Given the description of an element on the screen output the (x, y) to click on. 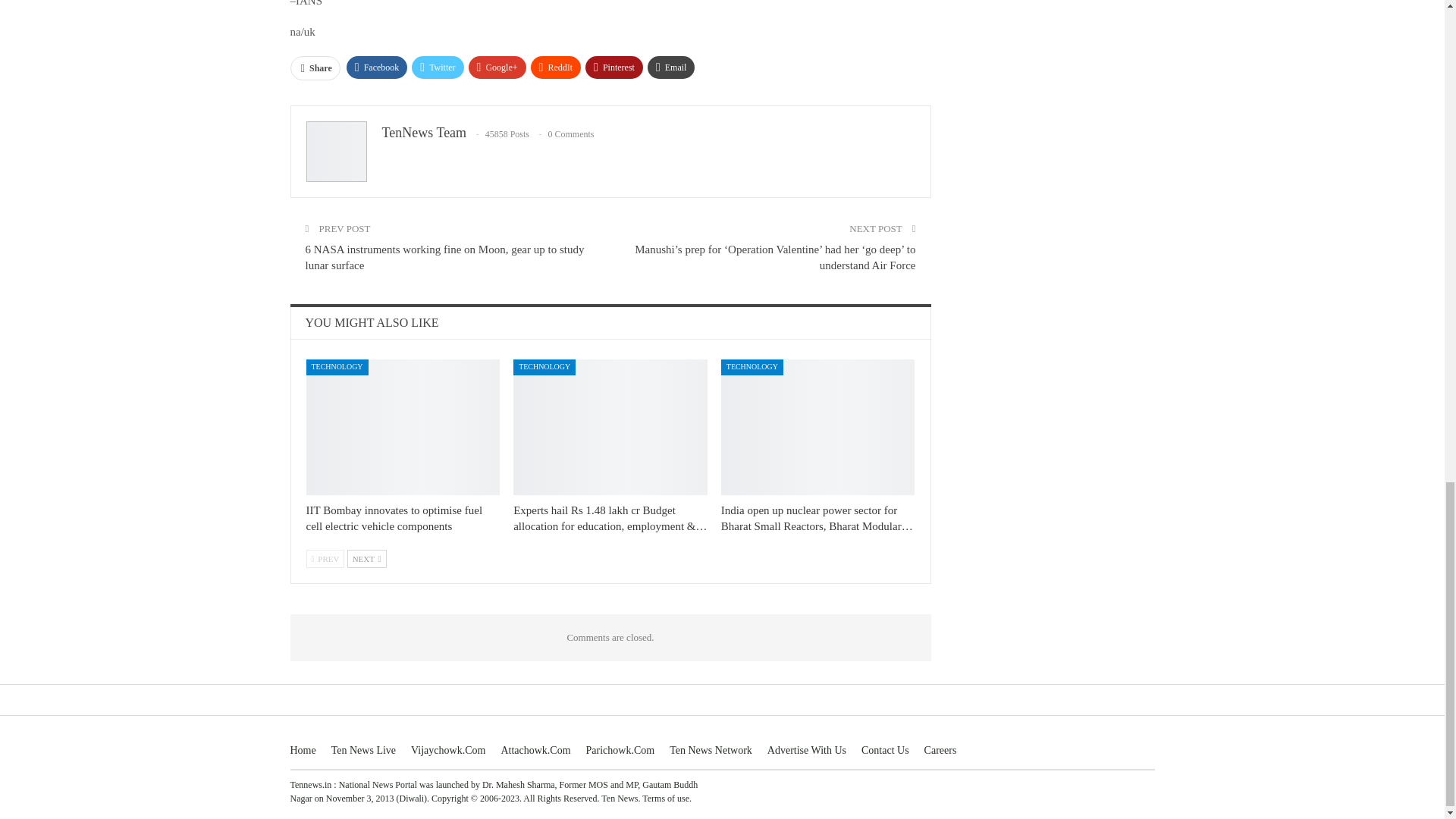
Facebook (376, 67)
Twitter (437, 67)
Next (367, 558)
Previous (325, 558)
ReddIt (555, 67)
